Given the description of an element on the screen output the (x, y) to click on. 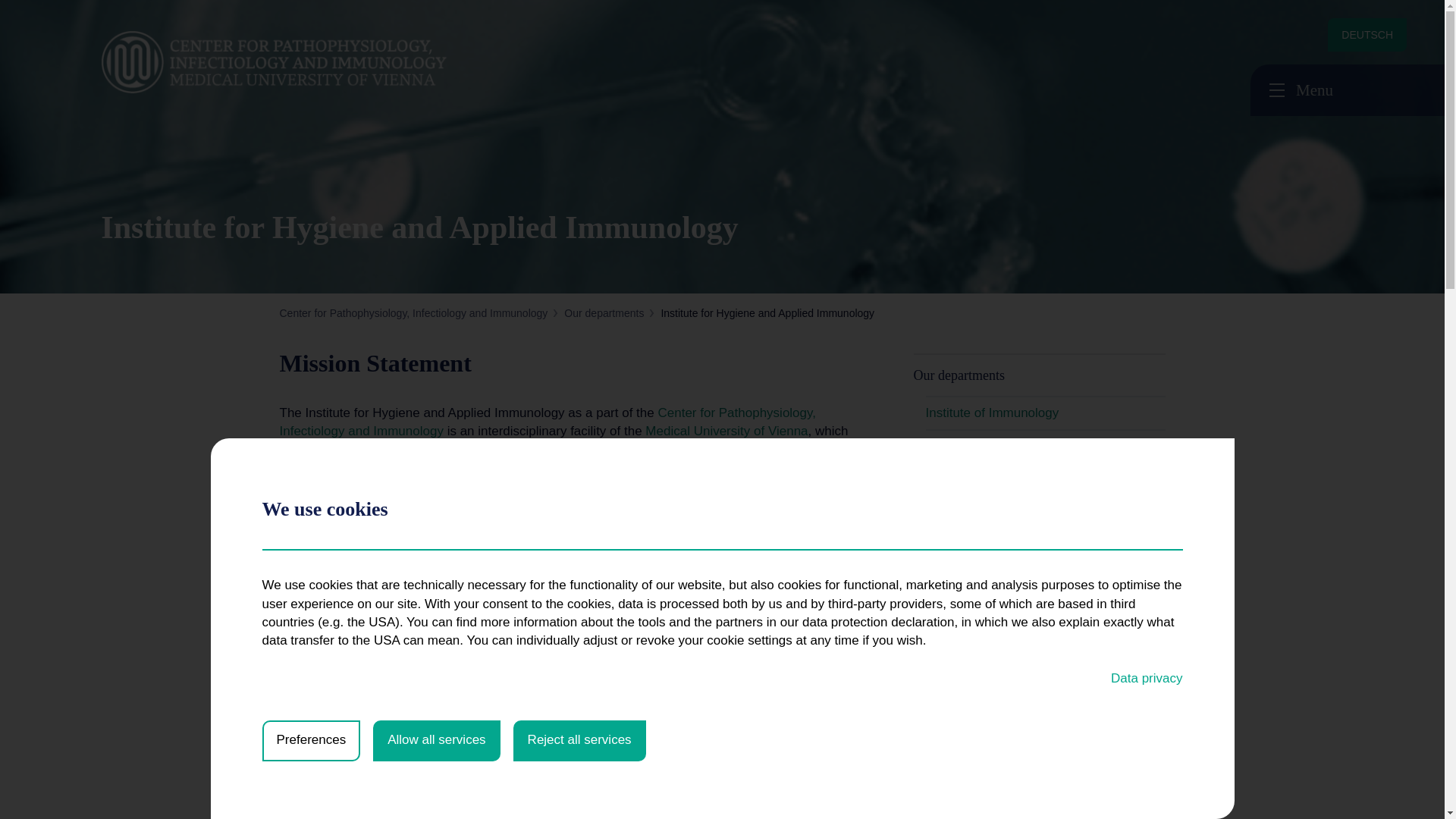
Link to Medical University of Vienna (726, 431)
Link to water microbiology (358, 690)
Link to water hygiene (798, 672)
Center for Pathophysiology, Infectiology and Immunology (413, 313)
Link to medical technical hygiene (541, 672)
Link to molecular immunology (687, 672)
DEUTSCH (1366, 34)
Link to Center for Pathophysiology (547, 421)
Link to Tick Lab (558, 690)
Center for Pathophysiology, Infectiology and Immunology (335, 62)
